Given the description of an element on the screen output the (x, y) to click on. 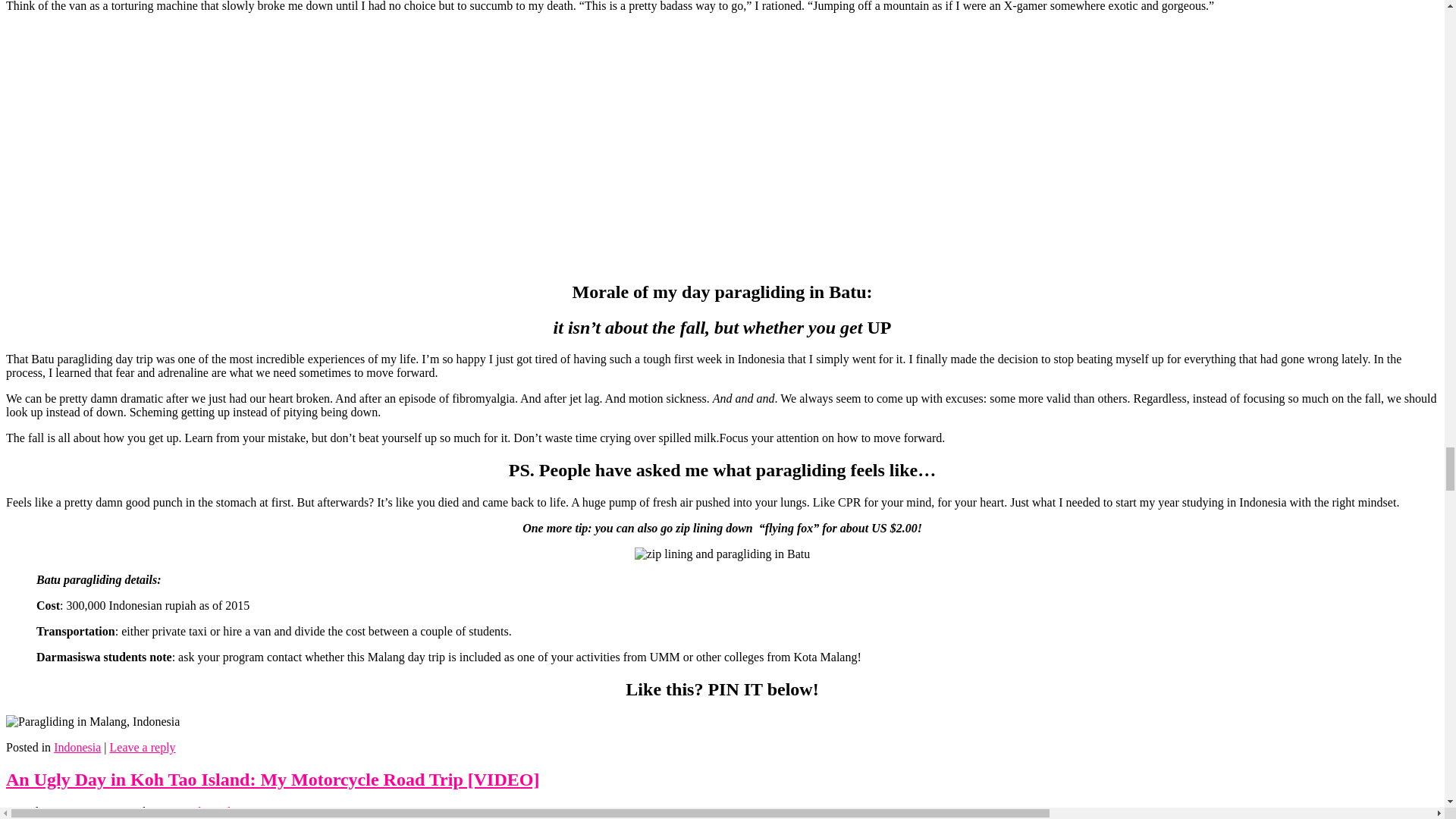
3:27 PM (97, 811)
View all posts by Maria Alexandra (198, 811)
